Given the description of an element on the screen output the (x, y) to click on. 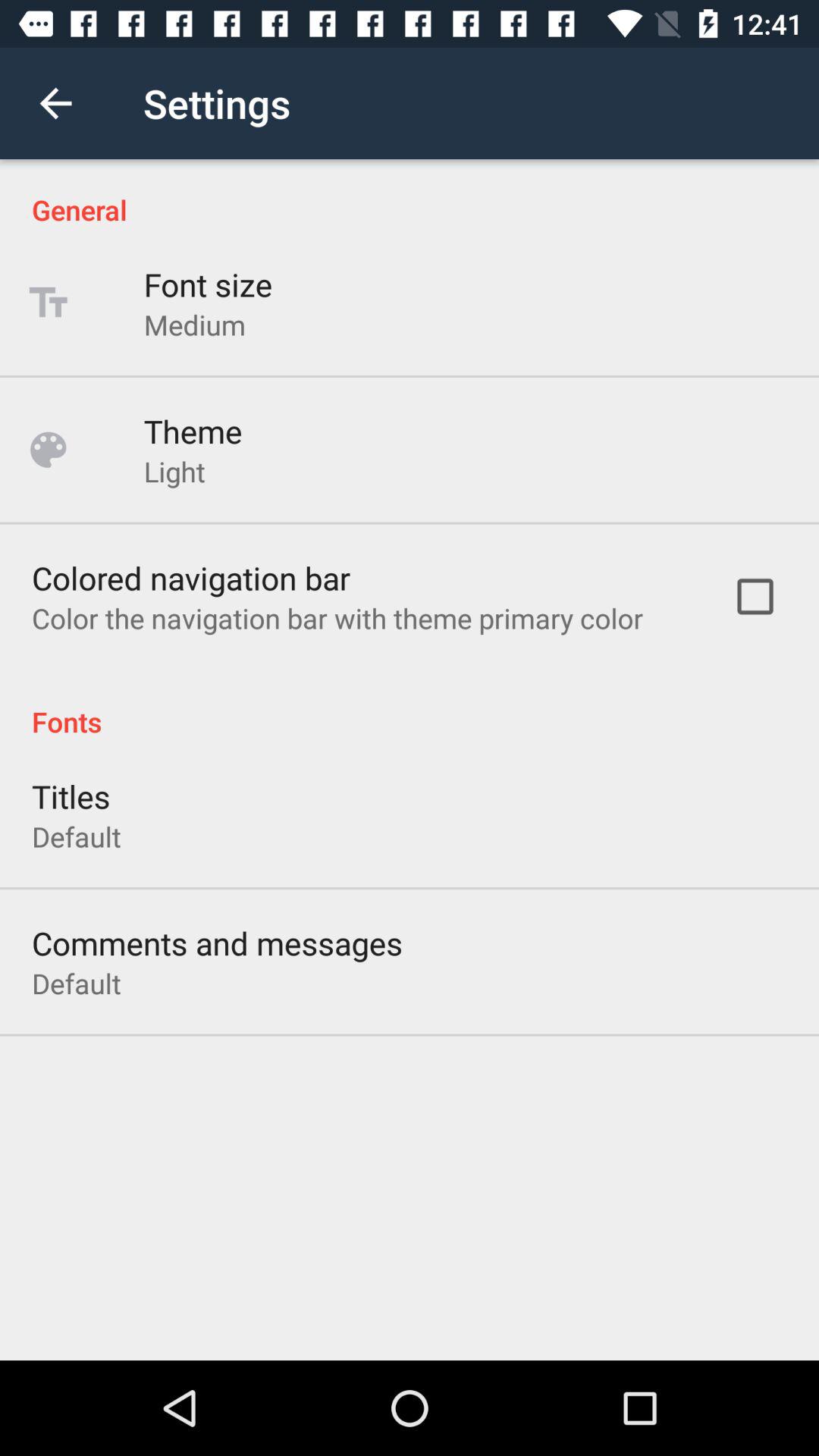
scroll to fonts (409, 705)
